Given the description of an element on the screen output the (x, y) to click on. 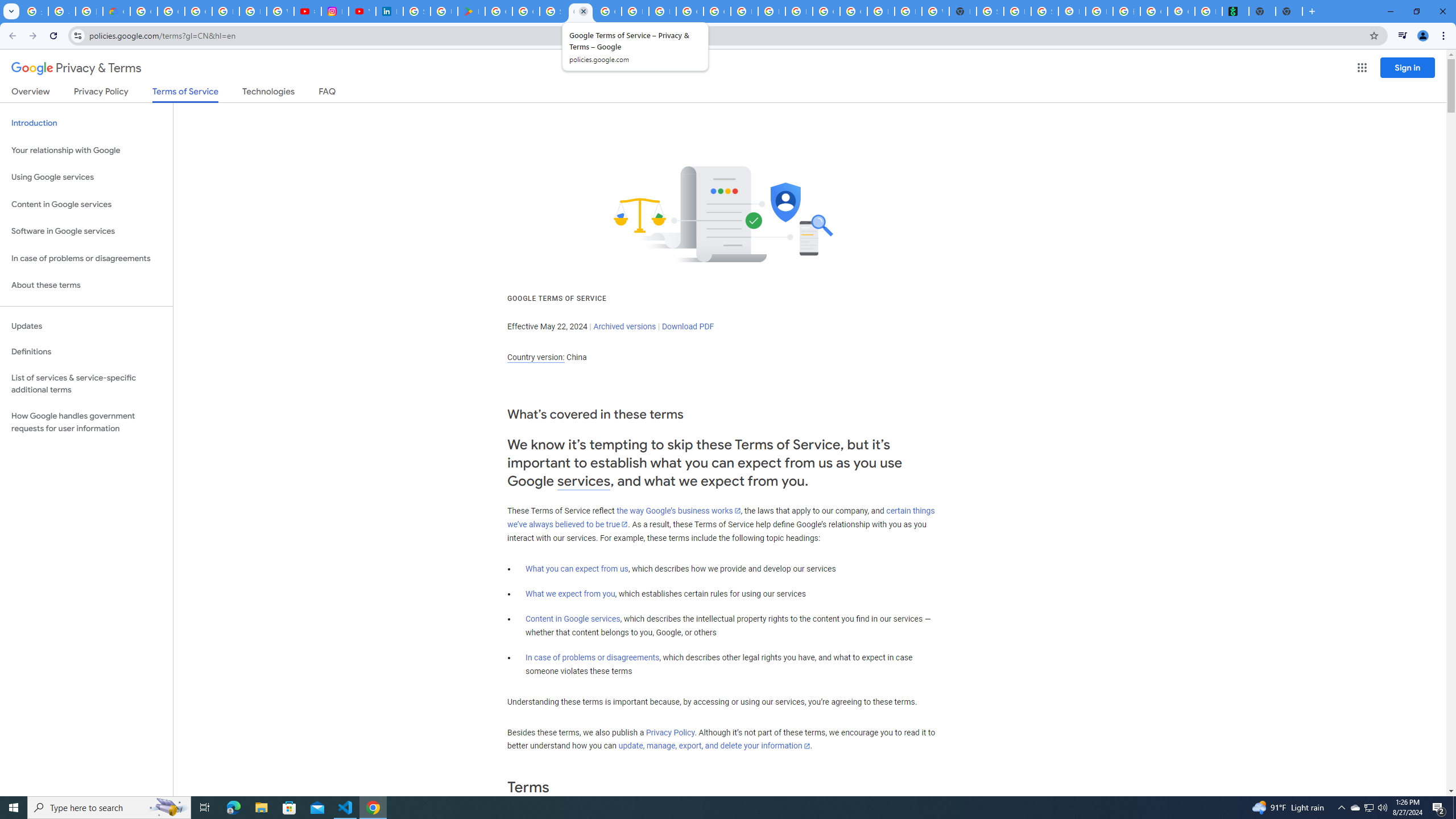
New Tab (962, 11)
Definitions (86, 352)
Sign in - Google Accounts (990, 11)
Privacy Help Center - Policies Help (253, 11)
What we expect from you (570, 593)
Browse Chrome as a guest - Computer - Google Chrome Help (771, 11)
update, manage, export, and delete your information (714, 746)
